Given the description of an element on the screen output the (x, y) to click on. 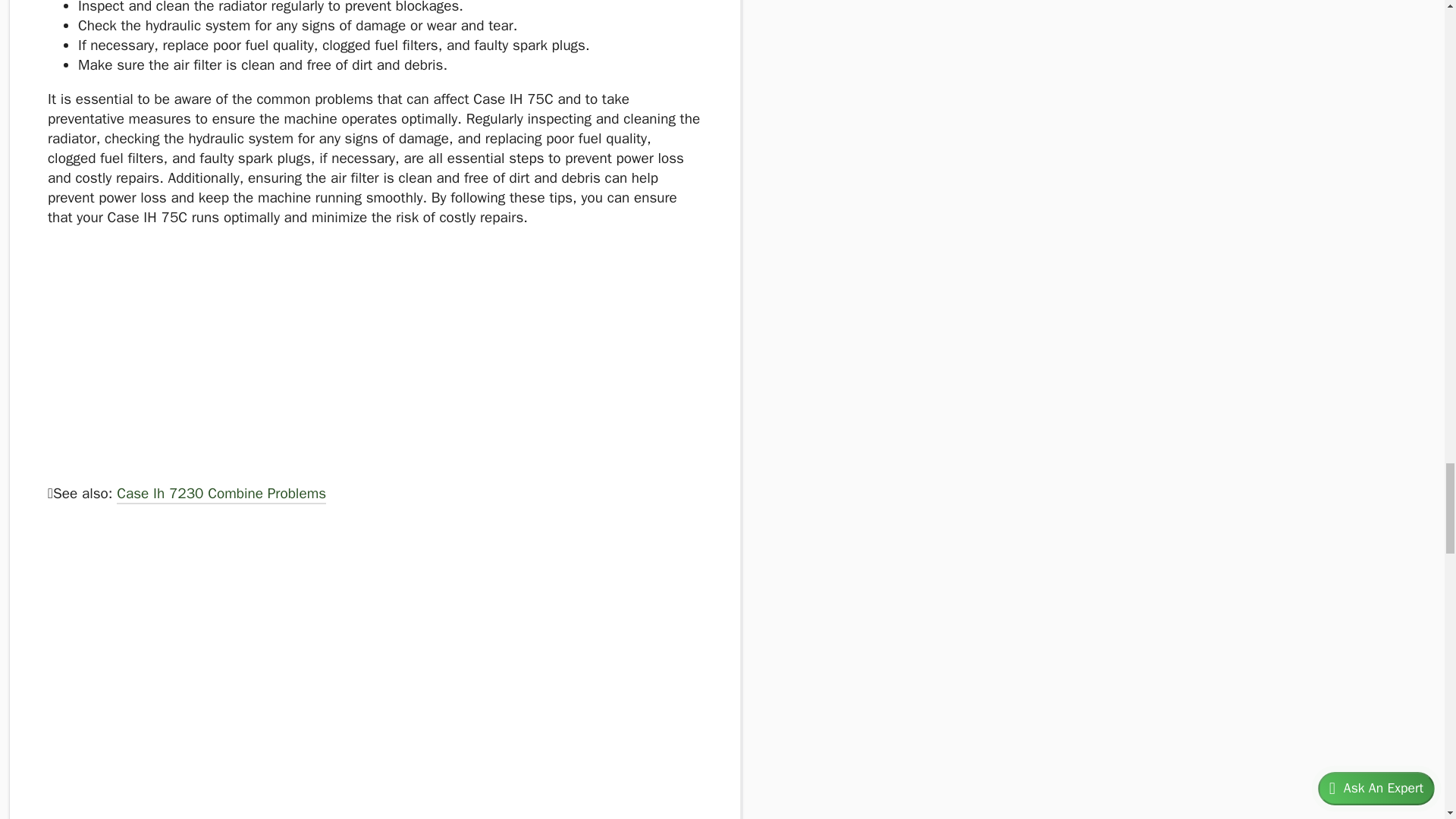
Case Ih 7230 Combine Problems (221, 495)
